Given the description of an element on the screen output the (x, y) to click on. 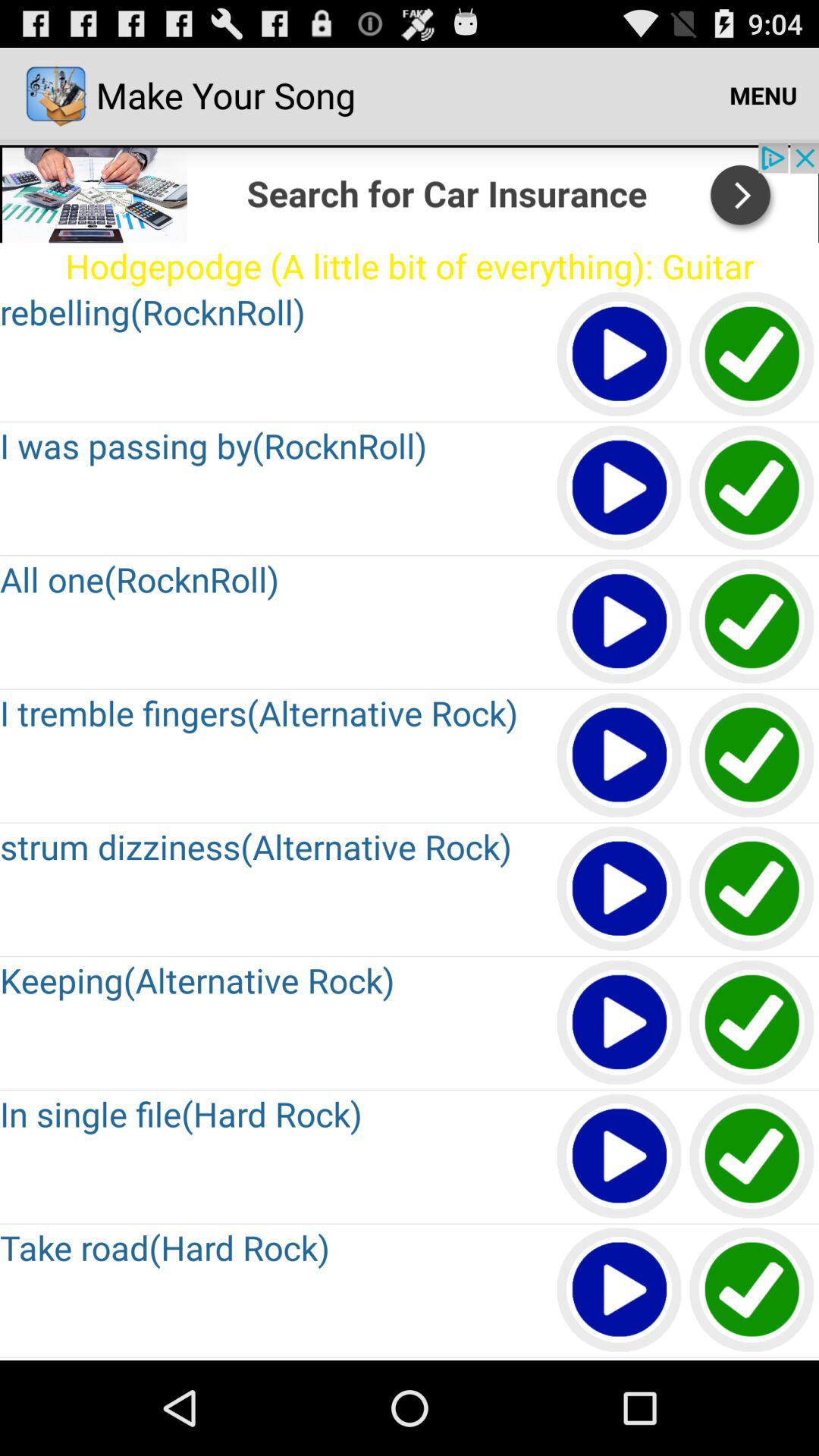
download option (752, 1290)
